Given the description of an element on the screen output the (x, y) to click on. 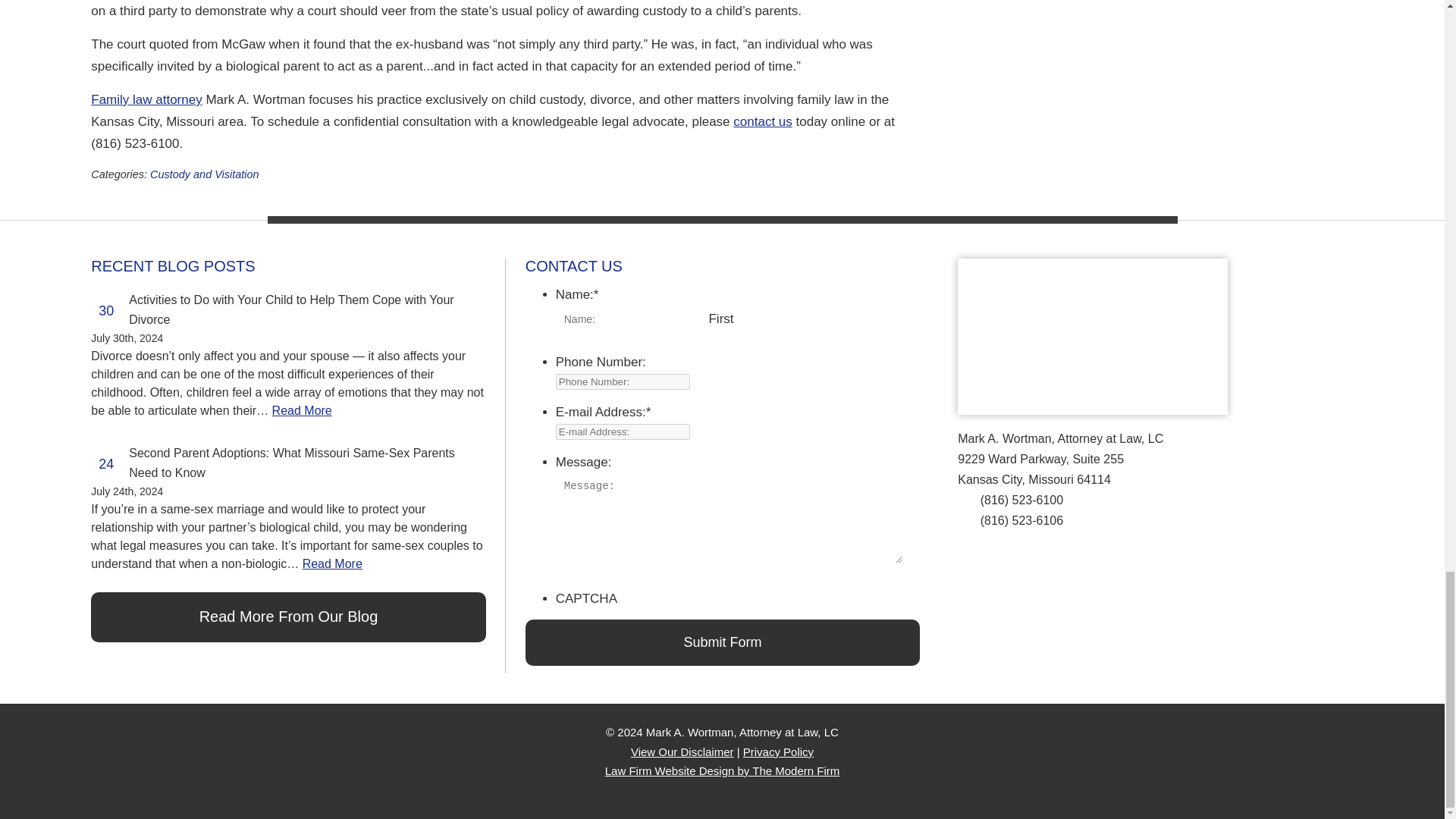
Family law attorney (146, 99)
Submit Form (722, 642)
Custody and Visitation (204, 174)
contact us (762, 121)
Click for more Custody and Visitation information (204, 174)
